Given the description of an element on the screen output the (x, y) to click on. 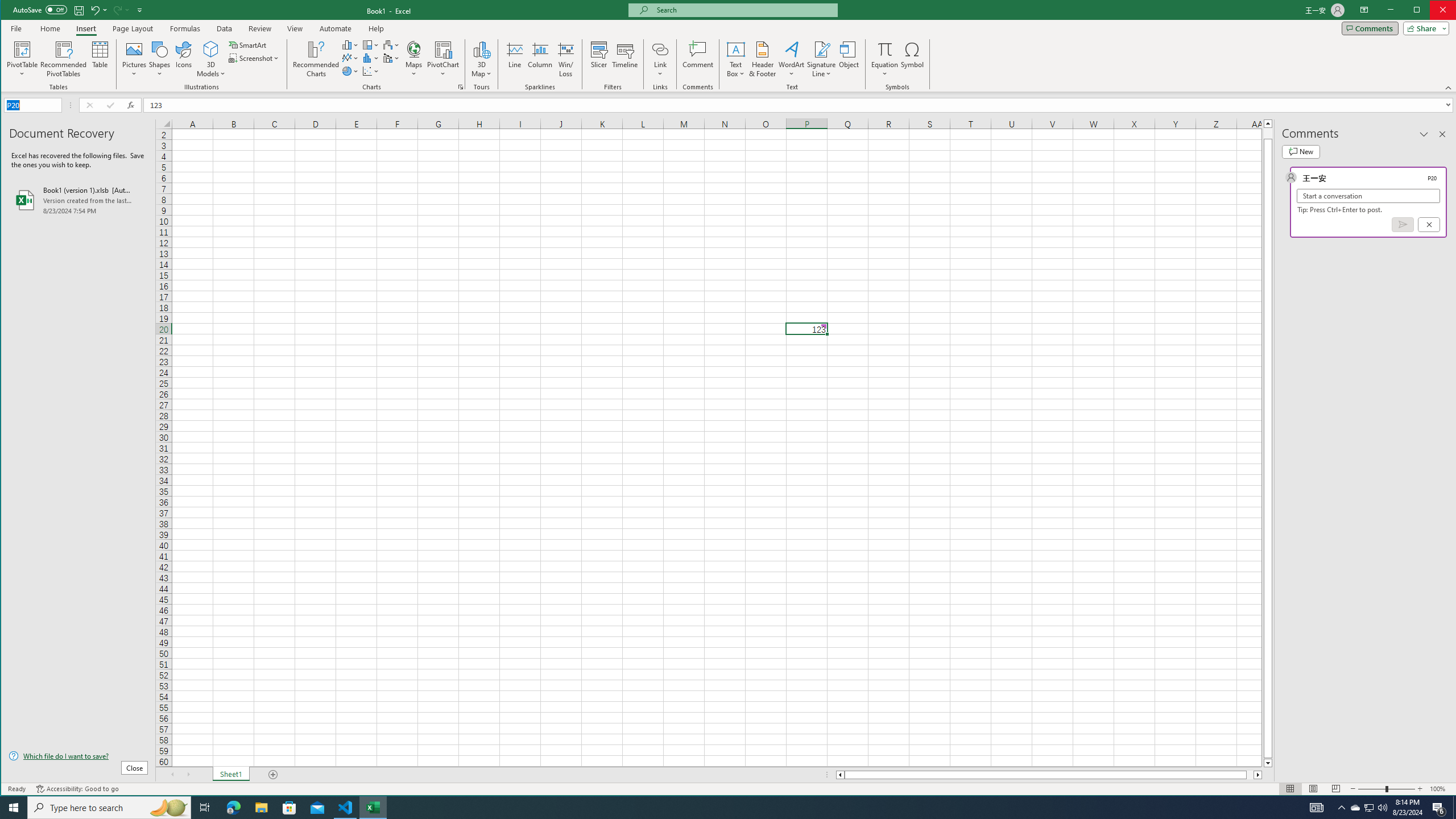
PivotTable (22, 59)
Running applications (717, 807)
Signature Line (821, 48)
